Given the description of an element on the screen output the (x, y) to click on. 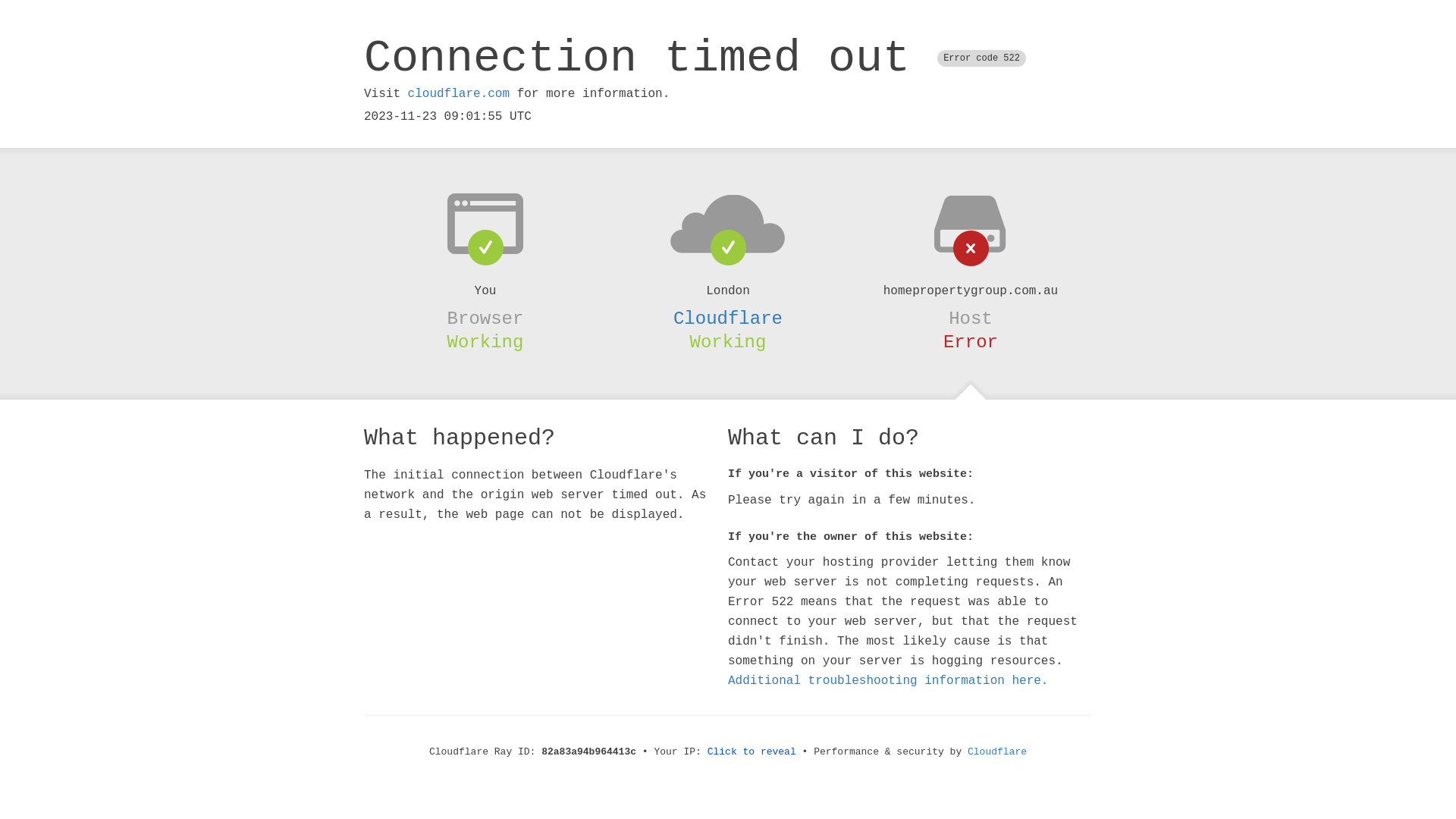
Cloudflare Element type: text (996, 751)
cloudflare.com Element type: text (458, 93)
Additional troubleshooting information here. Element type: text (888, 680)
Click to reveal Element type: text (751, 751)
Cloudflare Element type: text (727, 318)
